Given the description of an element on the screen output the (x, y) to click on. 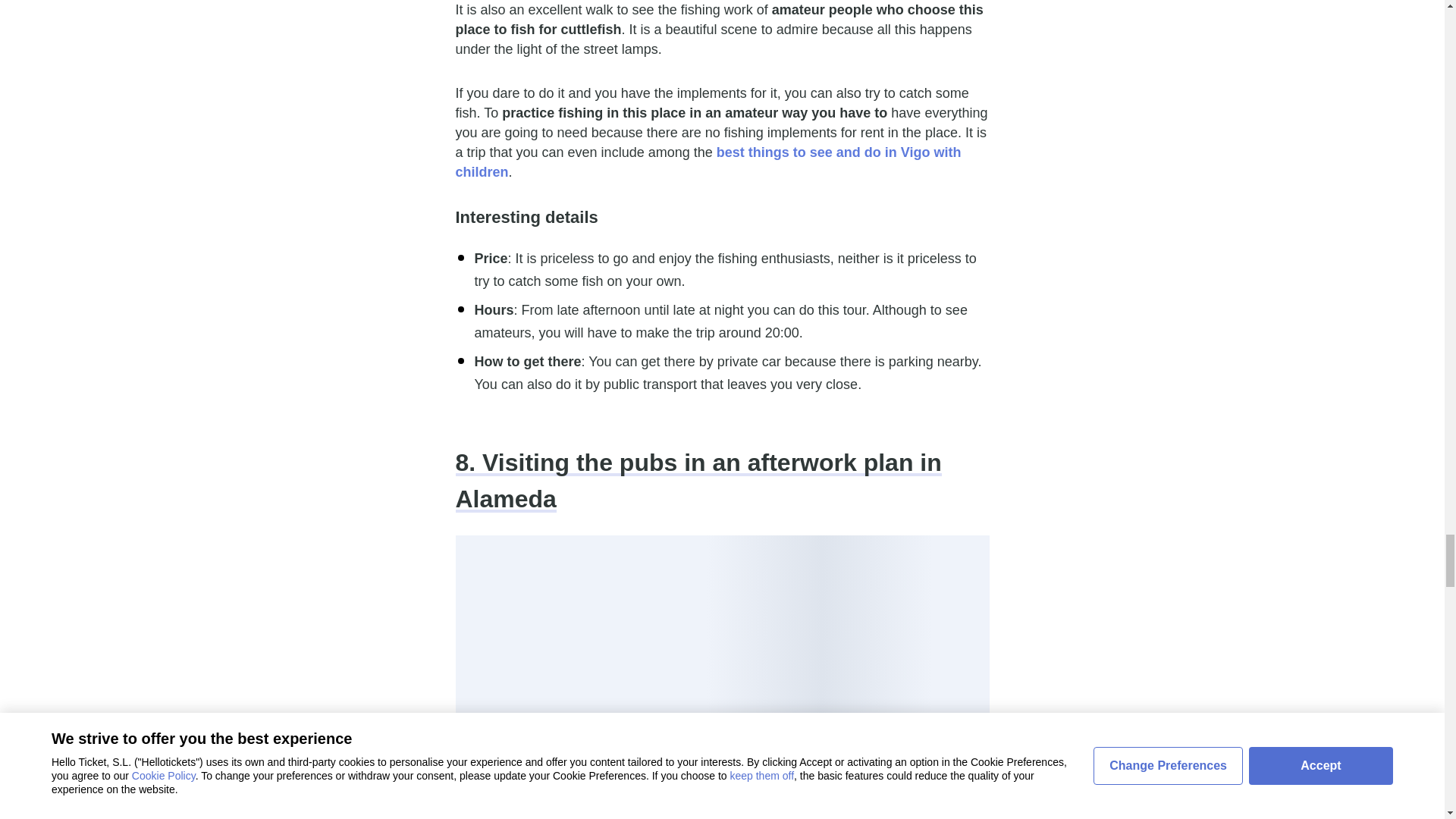
best things to see and do in Vigo with children (707, 161)
